Given the description of an element on the screen output the (x, y) to click on. 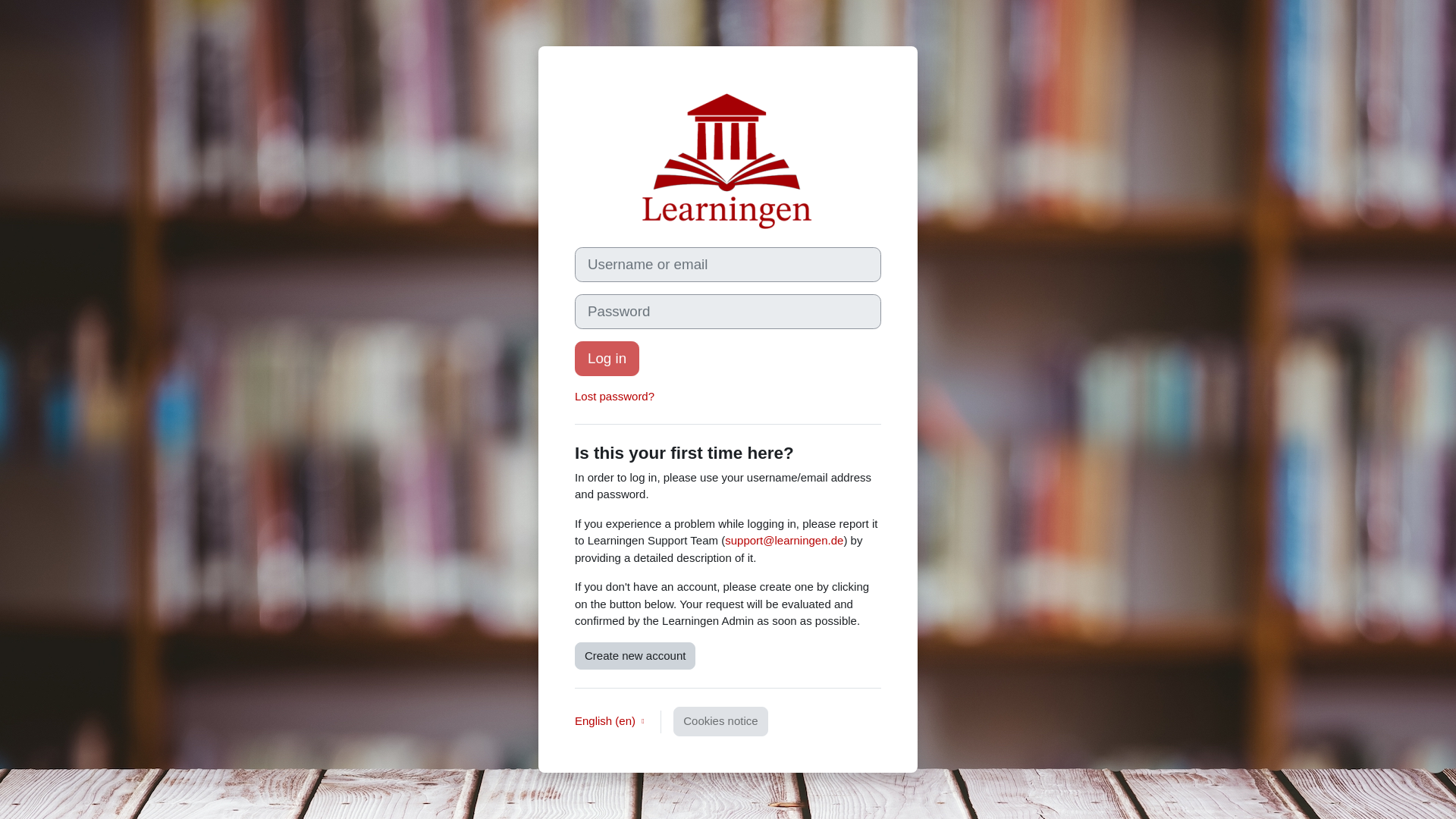
Cookies notice (719, 721)
Lost password? (614, 395)
Log in (607, 358)
Create new account (635, 656)
